Given the description of an element on the screen output the (x, y) to click on. 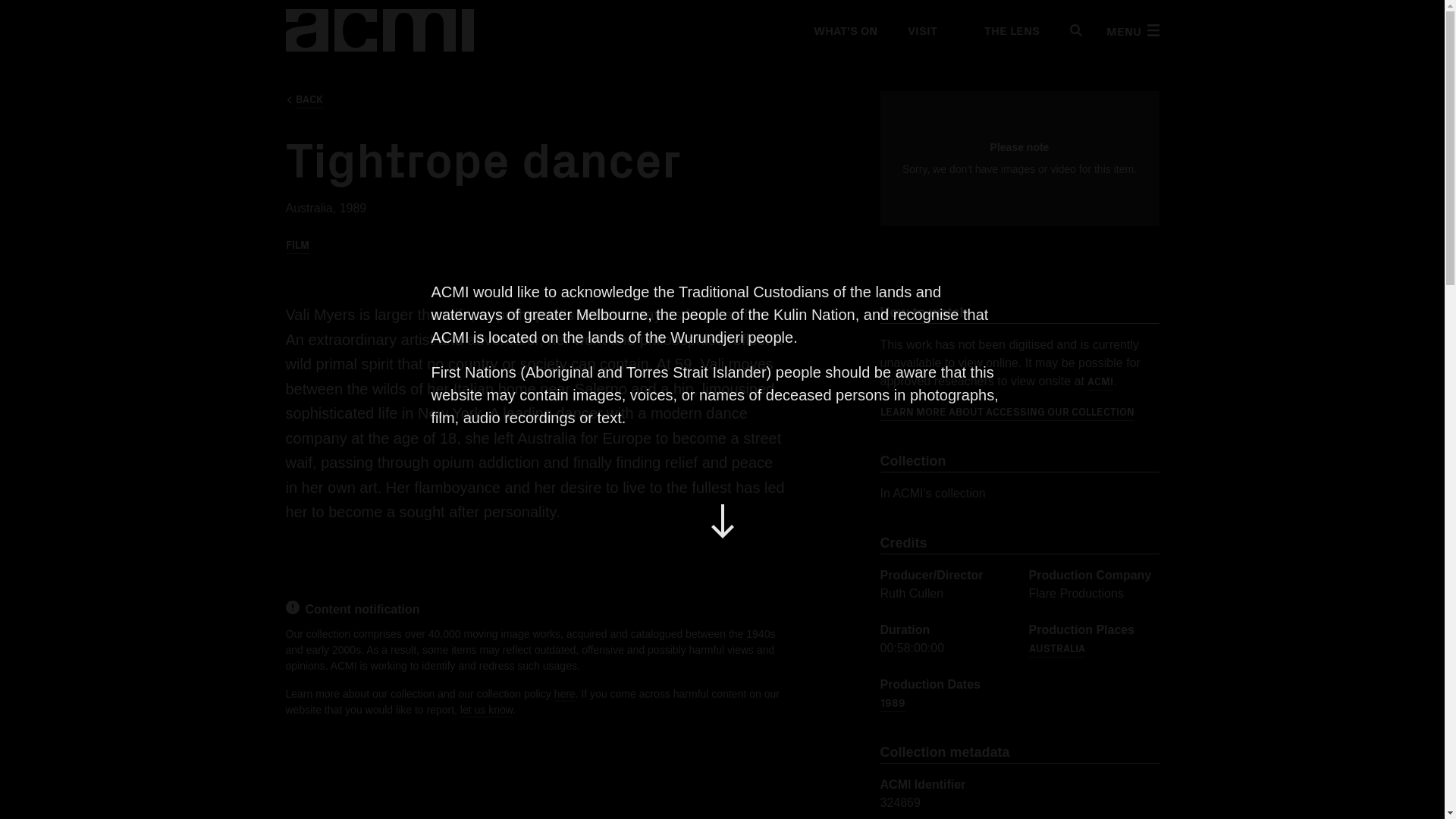
THE LENS (1003, 30)
VISIT (921, 30)
MENU (1131, 29)
WHAT'S ON (844, 30)
